Given the description of an element on the screen output the (x, y) to click on. 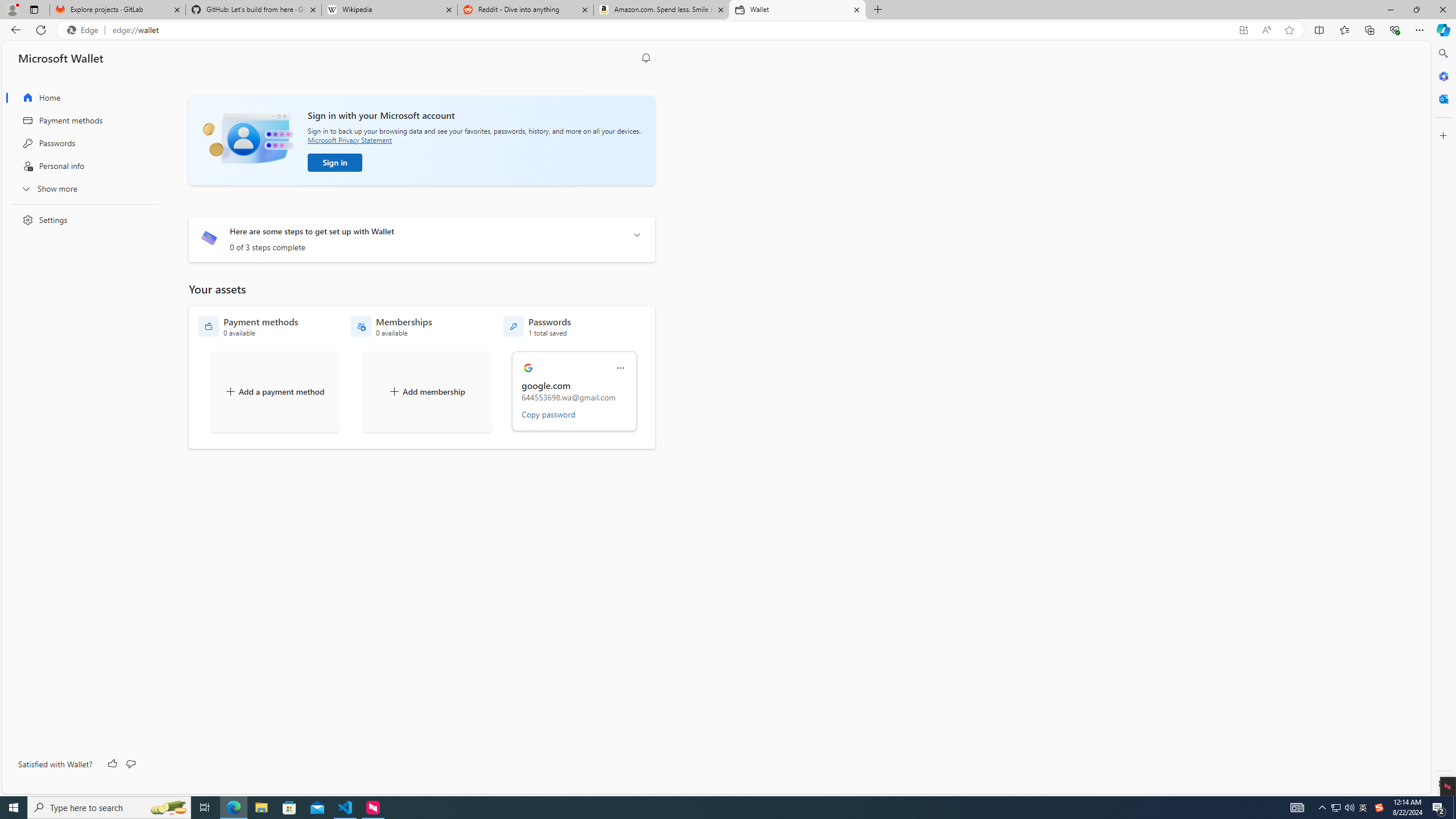
Reddit - Dive into anything (525, 9)
App available. Install Microsoft Wallet (1243, 29)
